Given the description of an element on the screen output the (x, y) to click on. 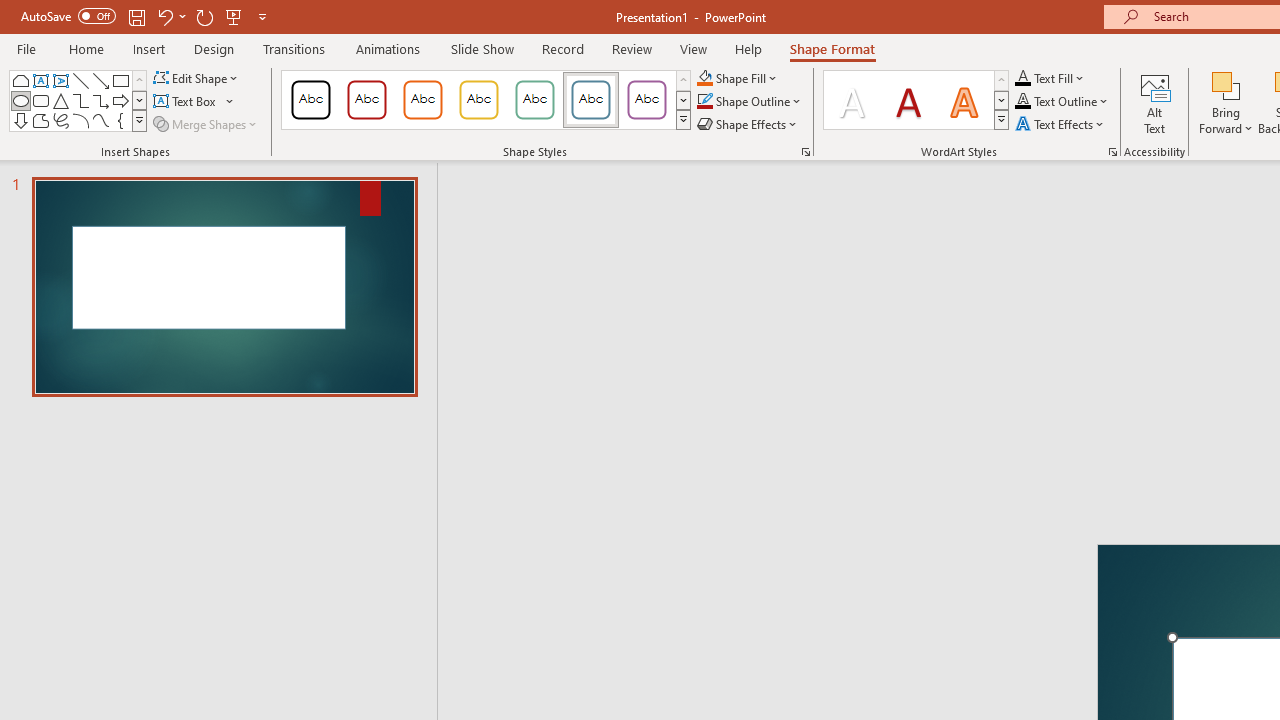
Shape Effects (748, 124)
Colored Outline - Green, Accent 4 (534, 100)
